Given the description of an element on the screen output the (x, y) to click on. 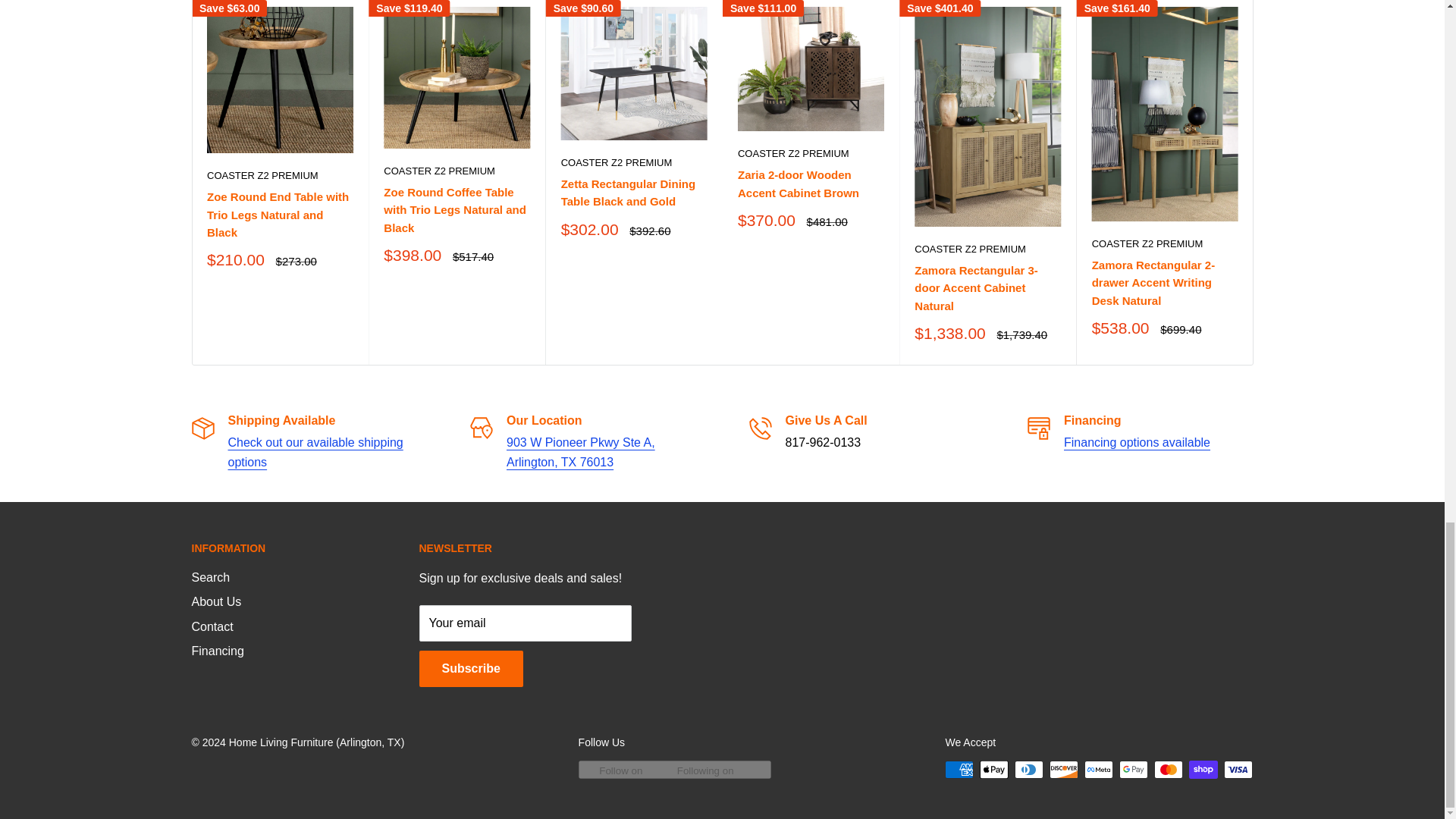
Contact (580, 451)
Financing (1136, 441)
Contact (315, 451)
